Given the description of an element on the screen output the (x, y) to click on. 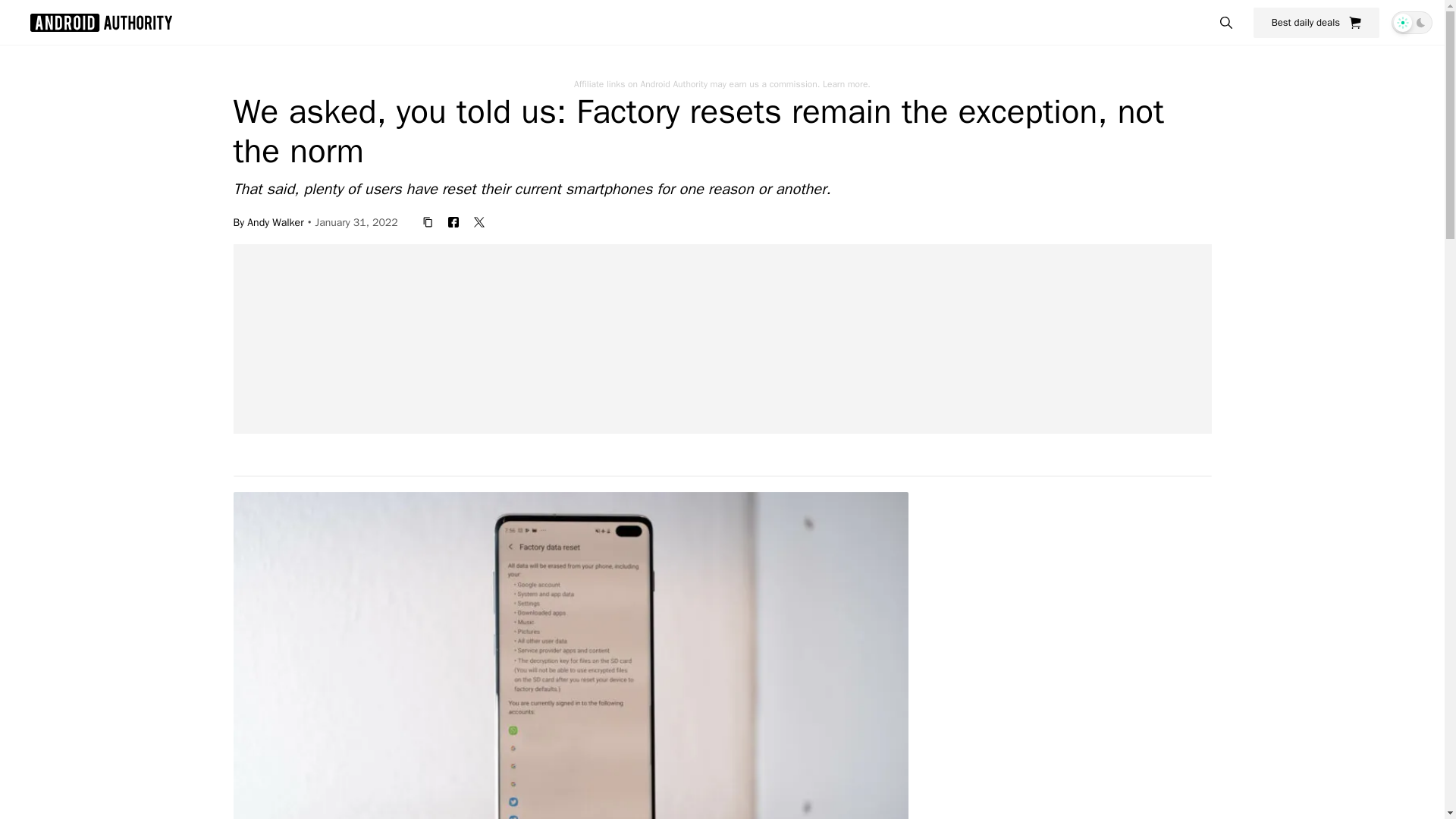
twitter (478, 222)
facebook (453, 222)
Best daily deals (1315, 22)
Andy Walker (274, 221)
Learn more. (846, 83)
